Given the description of an element on the screen output the (x, y) to click on. 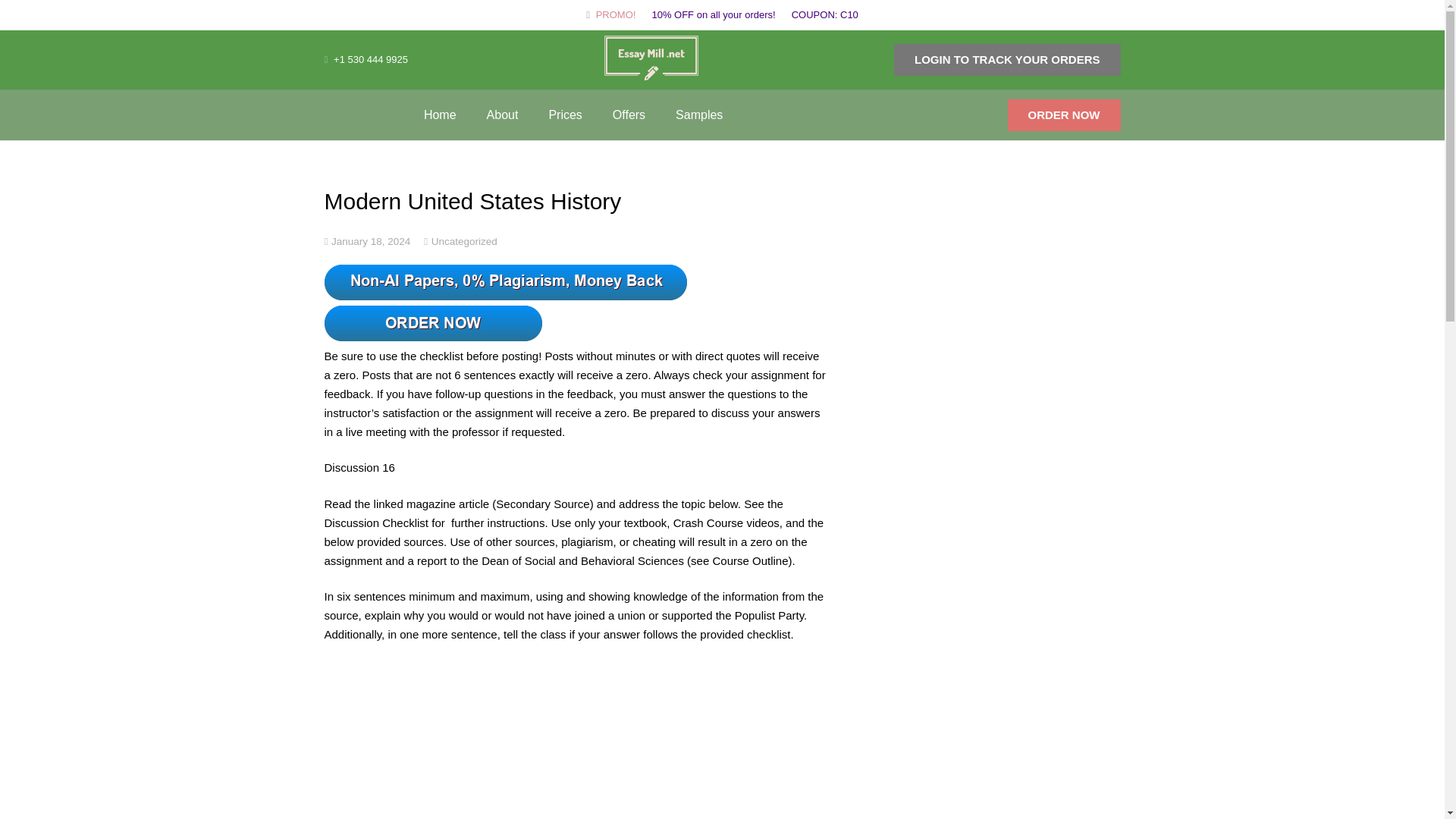
Home (440, 114)
About (502, 114)
COUPON: C10 (825, 14)
LOGIN TO TRACK YOUR ORDERS (1006, 60)
Offers (628, 114)
Samples (699, 114)
Uncategorized (463, 240)
Prices (564, 114)
PROMO! (615, 14)
ORDER NOW (1064, 114)
